Given the description of an element on the screen output the (x, y) to click on. 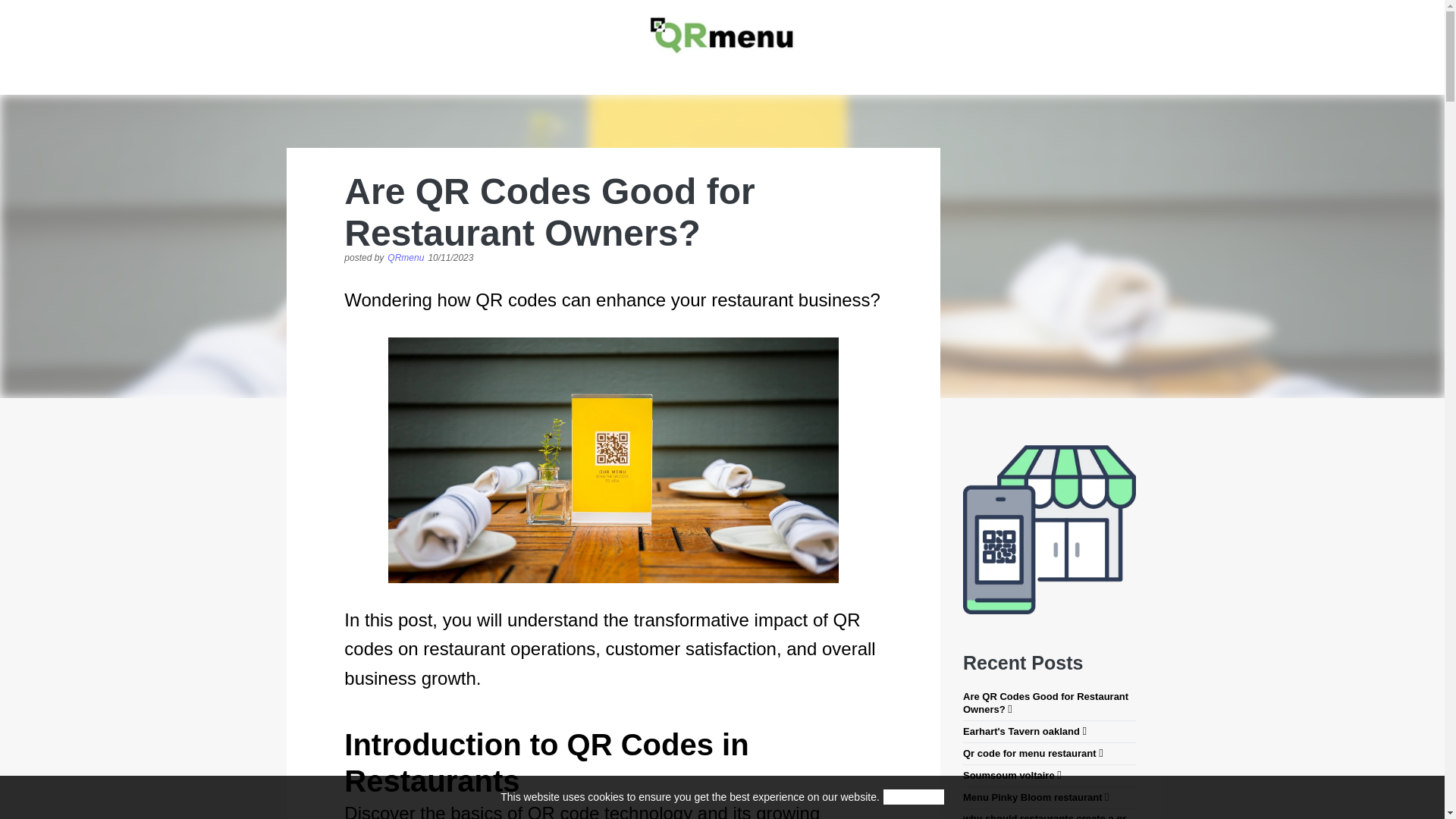
Are QR Codes Good for Restaurant Owners? (1048, 703)
Qr code for menu restaurant (1048, 753)
Menu Pinky Bloom restaurant (1048, 797)
why should restaurants create a qr menu for covid 19? (1048, 816)
QRmenu (405, 258)
Soumsoum voltaire (1048, 775)
Earhart's Tavern oakland (1048, 731)
I accept (913, 796)
